Given the description of an element on the screen output the (x, y) to click on. 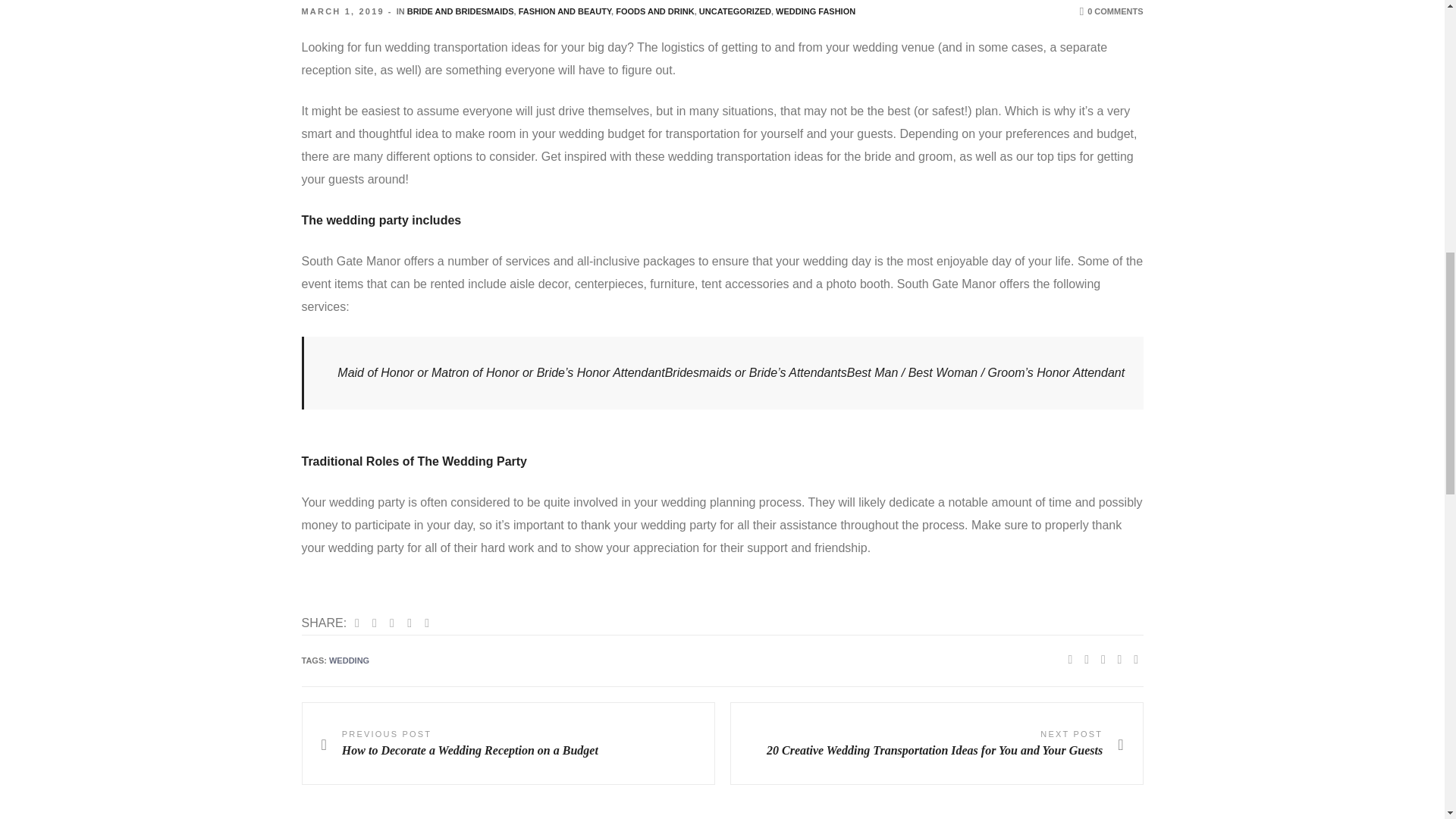
MARCH 1, 2019 (342, 10)
BRIDE AND BRIDESMAIDS (460, 10)
FASHION AND BEAUTY (564, 10)
WEDDING FASHION (816, 10)
UNCATEGORIZED (734, 10)
FOODS AND DRINK (654, 10)
WEDDING (349, 660)
